Given the description of an element on the screen output the (x, y) to click on. 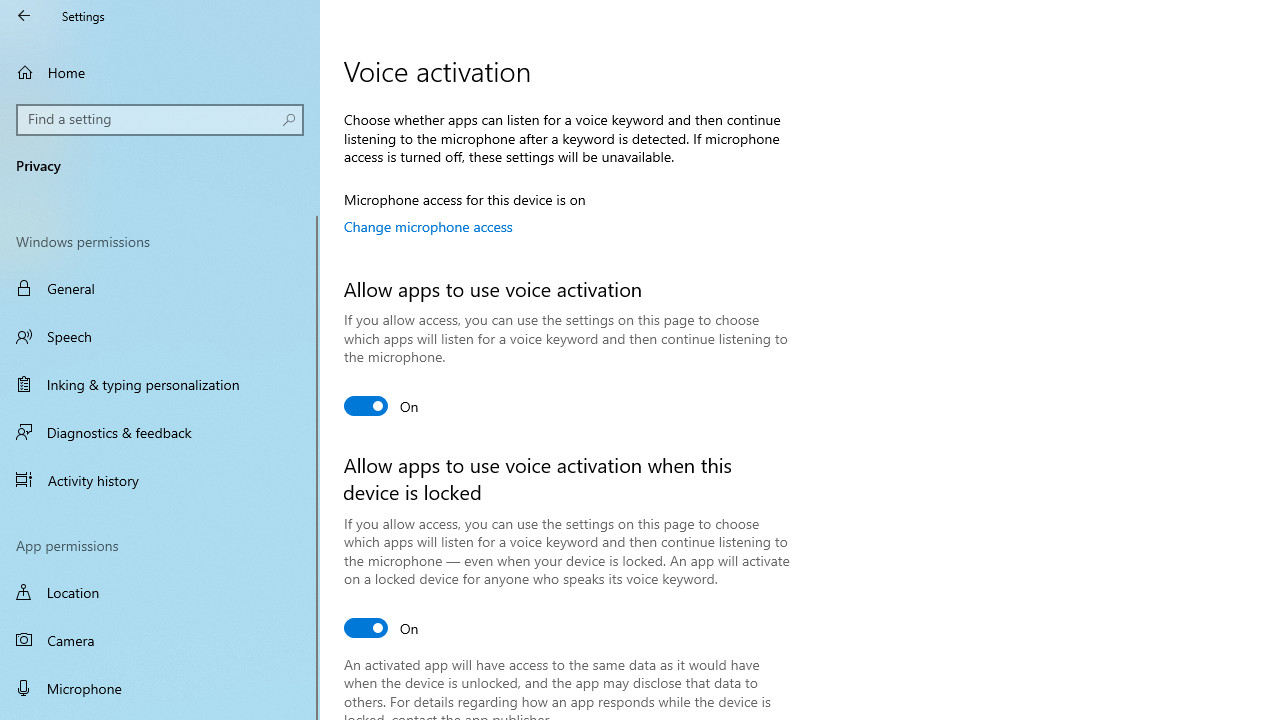
Search box, Find a setting (160, 119)
Activity history (160, 479)
Speech (160, 335)
Change microphone access (428, 226)
Microphone (160, 687)
Location (160, 592)
Diagnostics & feedback (160, 431)
General (160, 287)
Camera (160, 639)
Home (160, 71)
Inking & typing personalization (160, 384)
Allow apps to use voice activation (381, 405)
